Given the description of an element on the screen output the (x, y) to click on. 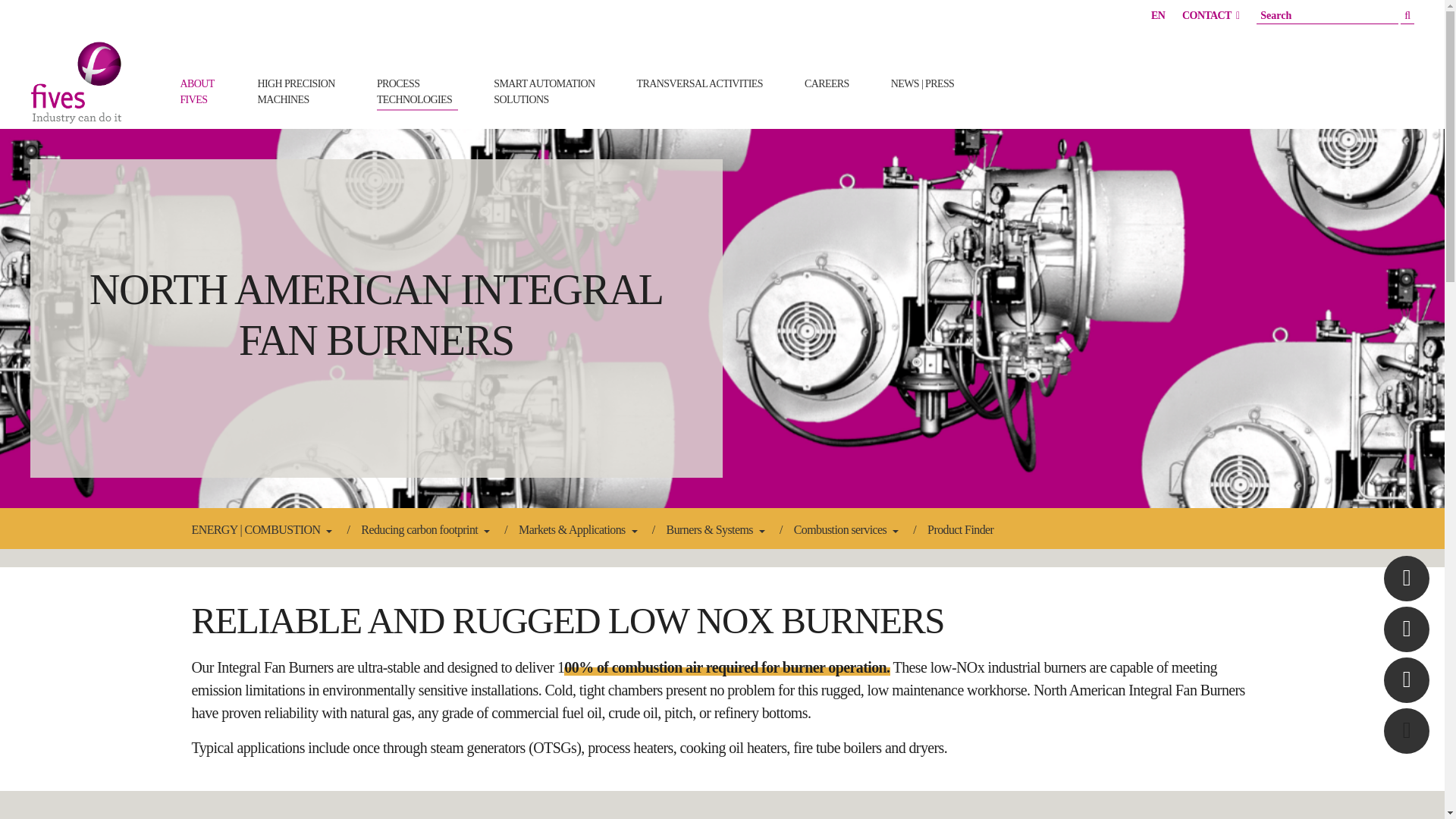
English (298, 91)
CONTACT (417, 91)
EN (1157, 15)
